Given the description of an element on the screen output the (x, y) to click on. 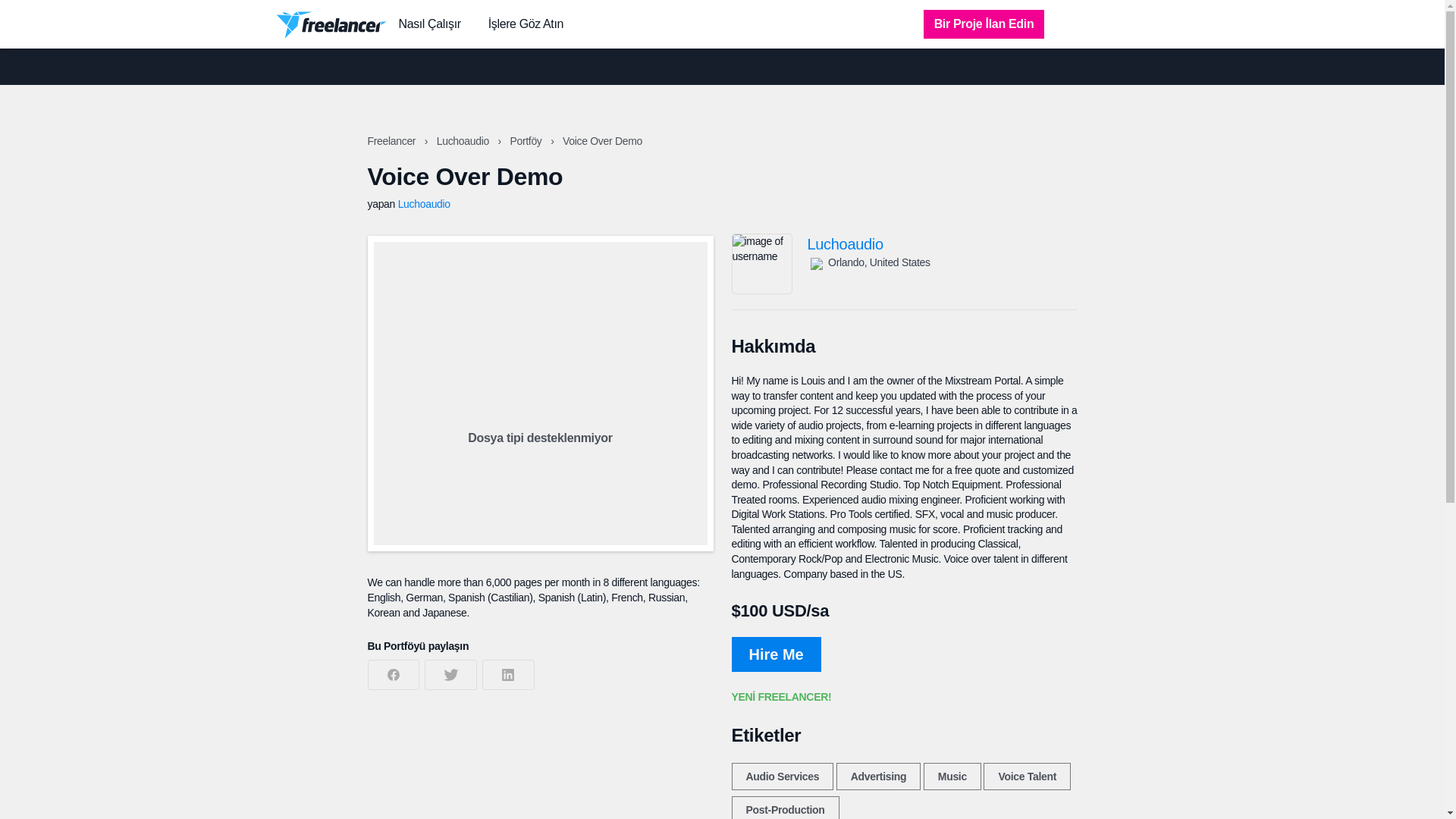
Luchoaudio (464, 141)
Luchoaudio (423, 203)
Music (952, 776)
Luchoaudio (941, 243)
Post-Production (784, 807)
Hire Me (775, 654)
Advertising (878, 776)
Audio Services (781, 776)
Freelancer (391, 141)
Voice Talent (1027, 776)
